Given the description of an element on the screen output the (x, y) to click on. 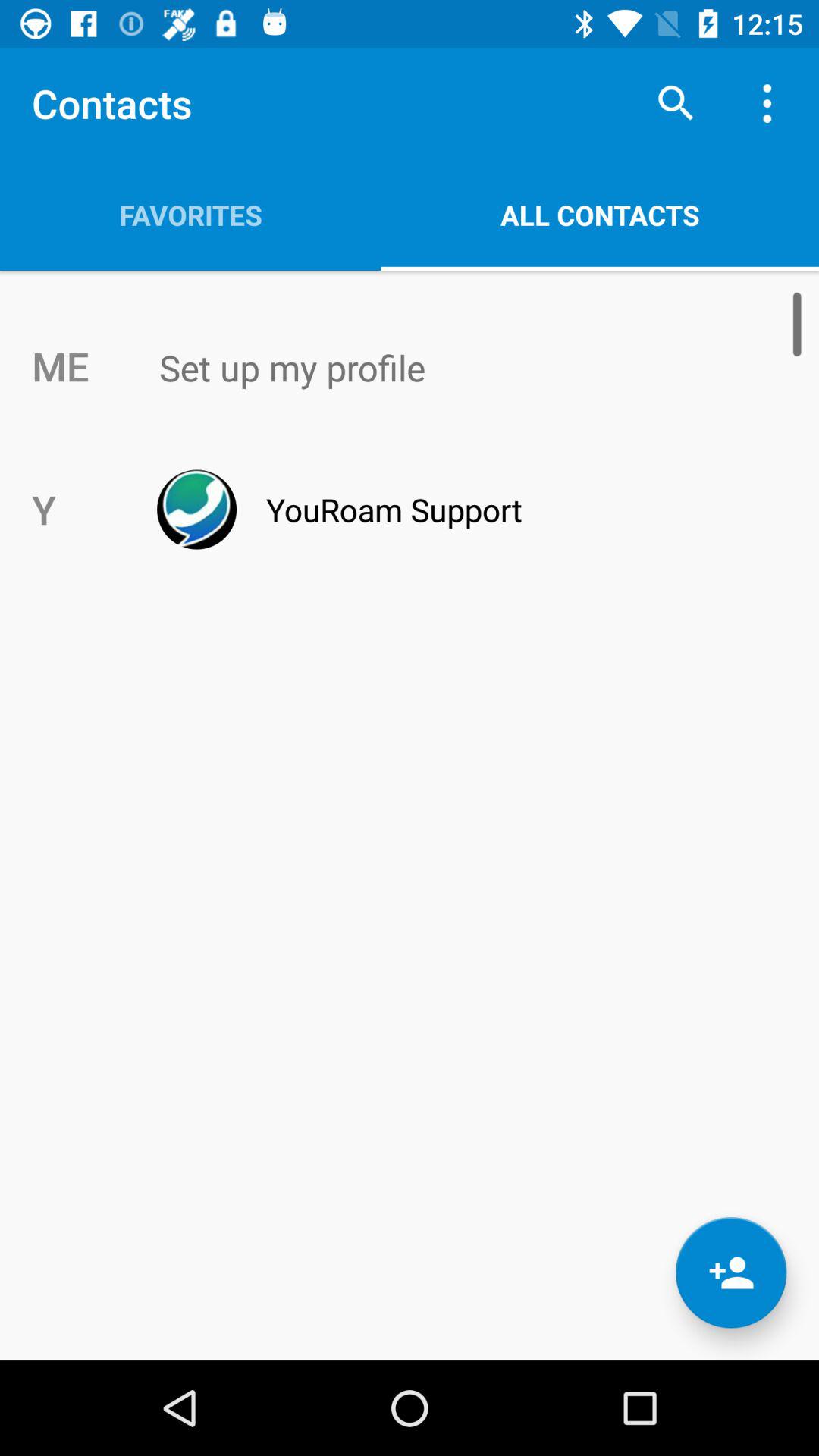
choose the app below the contacts icon (190, 214)
